Given the description of an element on the screen output the (x, y) to click on. 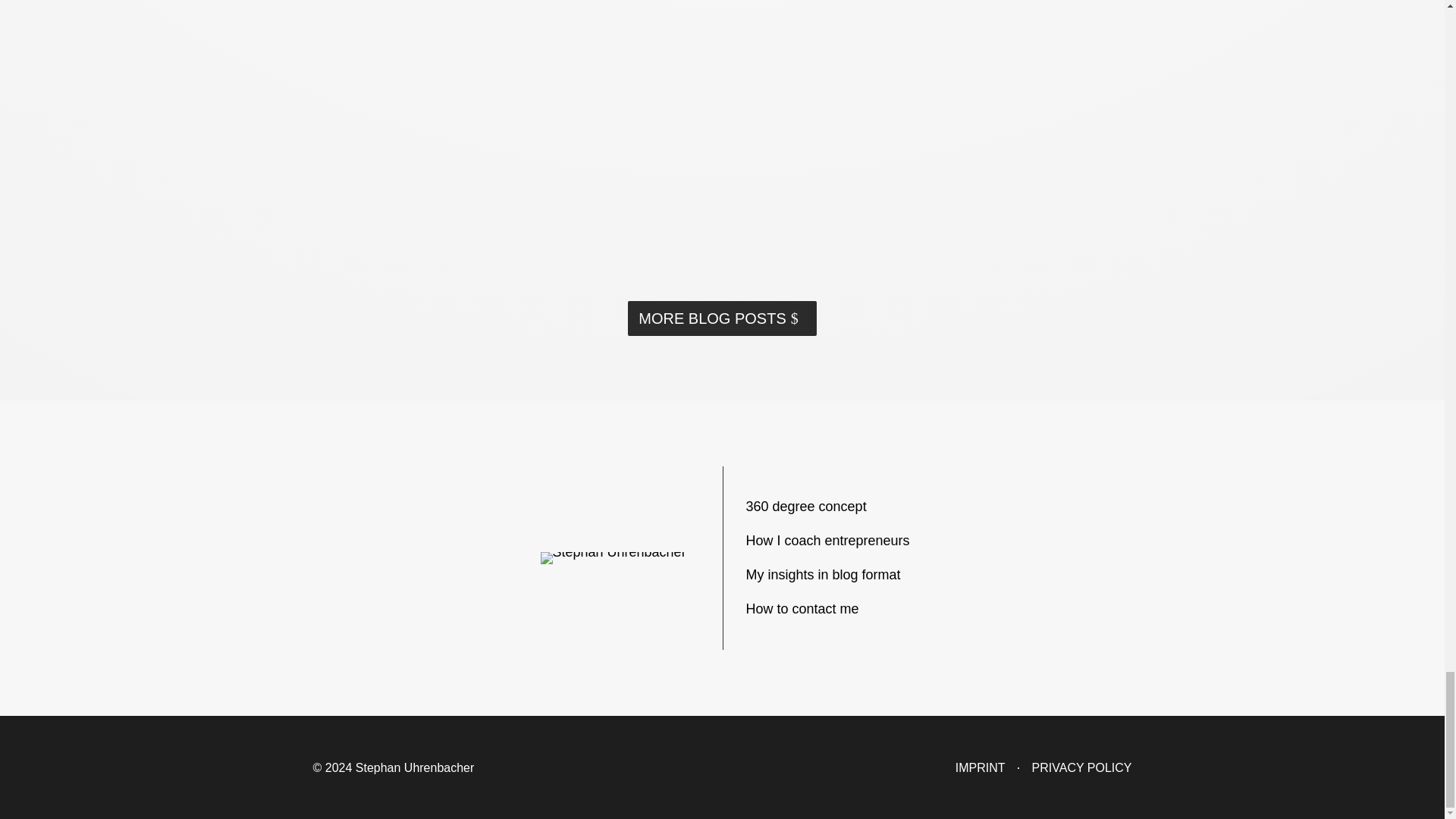
PRIVACY POLICY (1082, 767)
MORE BLOG POSTS (721, 318)
How to contact me (802, 608)
IMPRINT (980, 767)
360 degree concept (805, 506)
My insights in blog format (823, 574)
How I coach entrepreneurs (827, 540)
Stephan Uhrenbacher (612, 558)
